Given the description of an element on the screen output the (x, y) to click on. 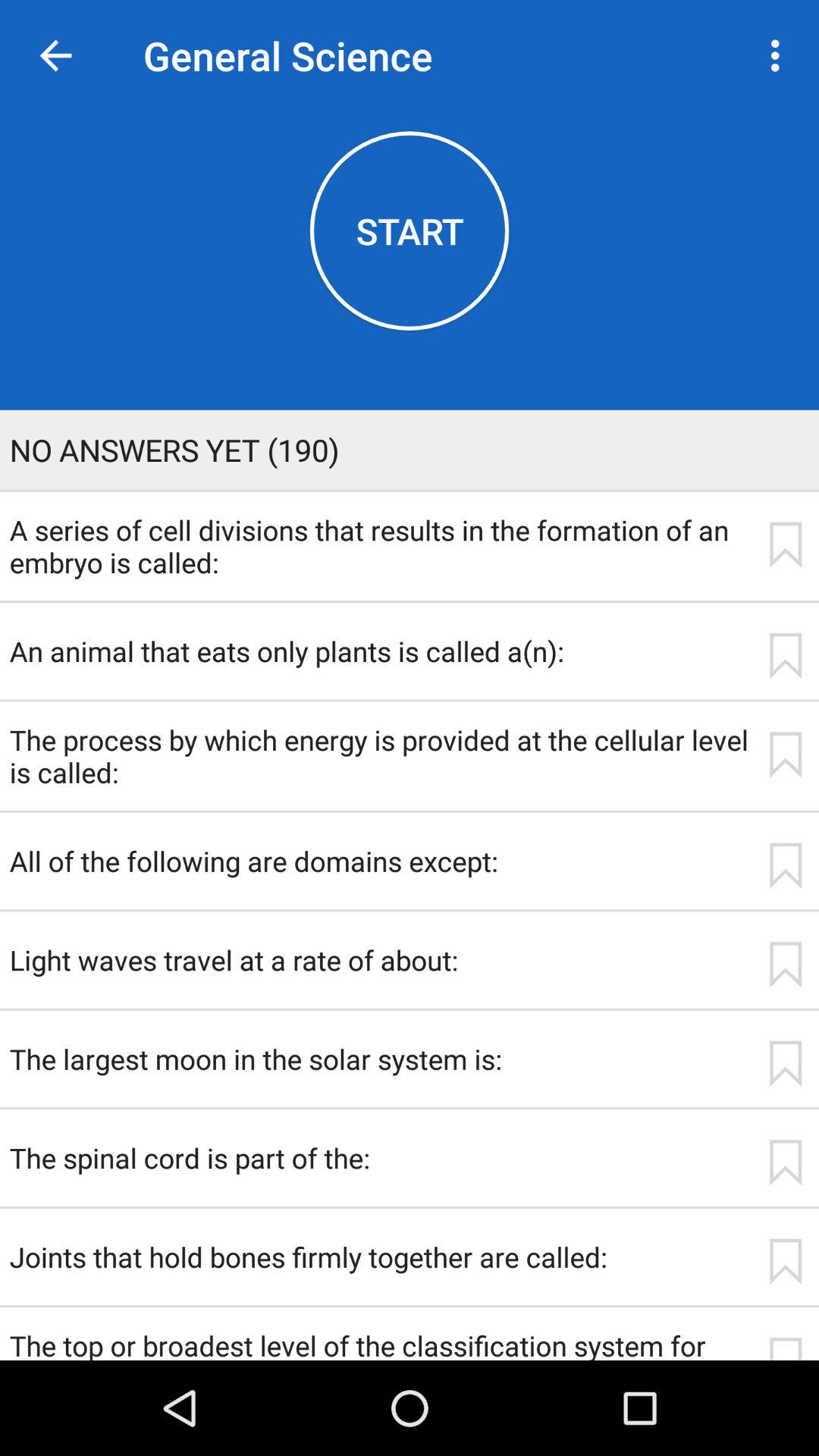
launch icon at the top right corner (779, 55)
